Given the description of an element on the screen output the (x, y) to click on. 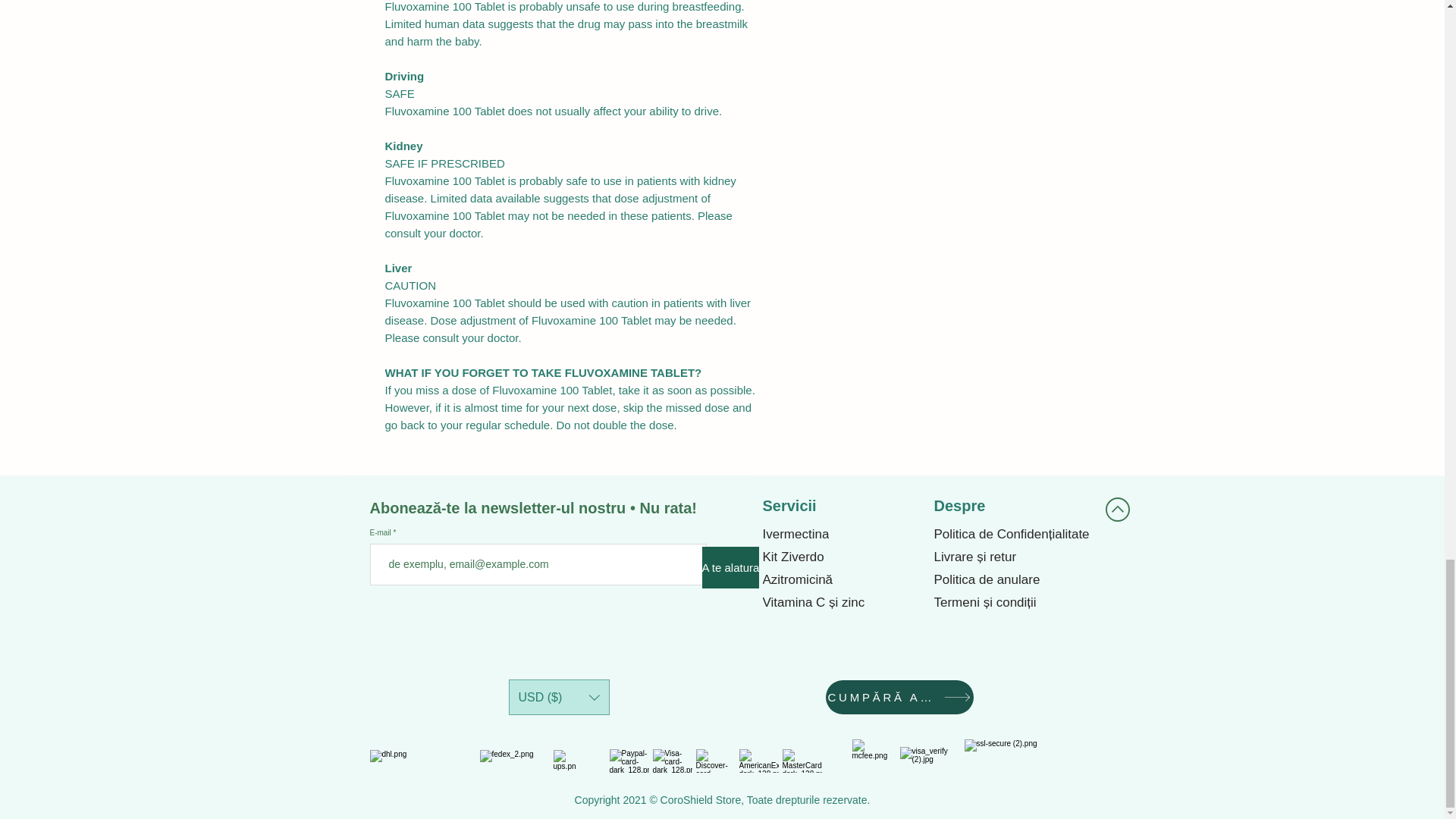
A te alatura (730, 567)
Ivermectina (841, 534)
Politica de anulare (1012, 579)
Kit Ziverdo (841, 557)
